Given the description of an element on the screen output the (x, y) to click on. 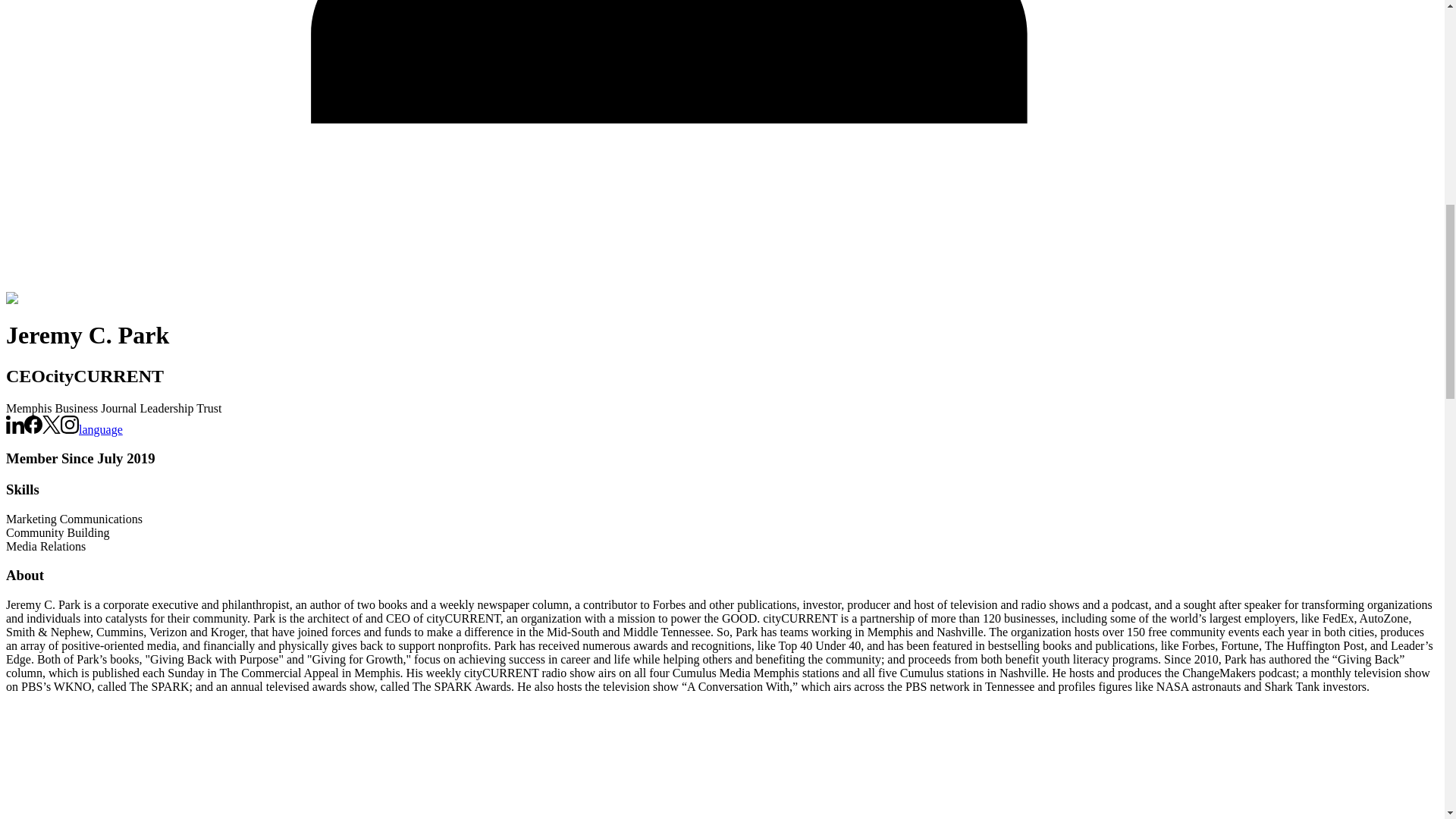
Facebook (33, 429)
X (51, 429)
language (100, 429)
Instagram (69, 429)
X (51, 424)
LinkedIn (14, 429)
Instagram (69, 424)
Person (669, 762)
Facebook (33, 424)
